Given the description of an element on the screen output the (x, y) to click on. 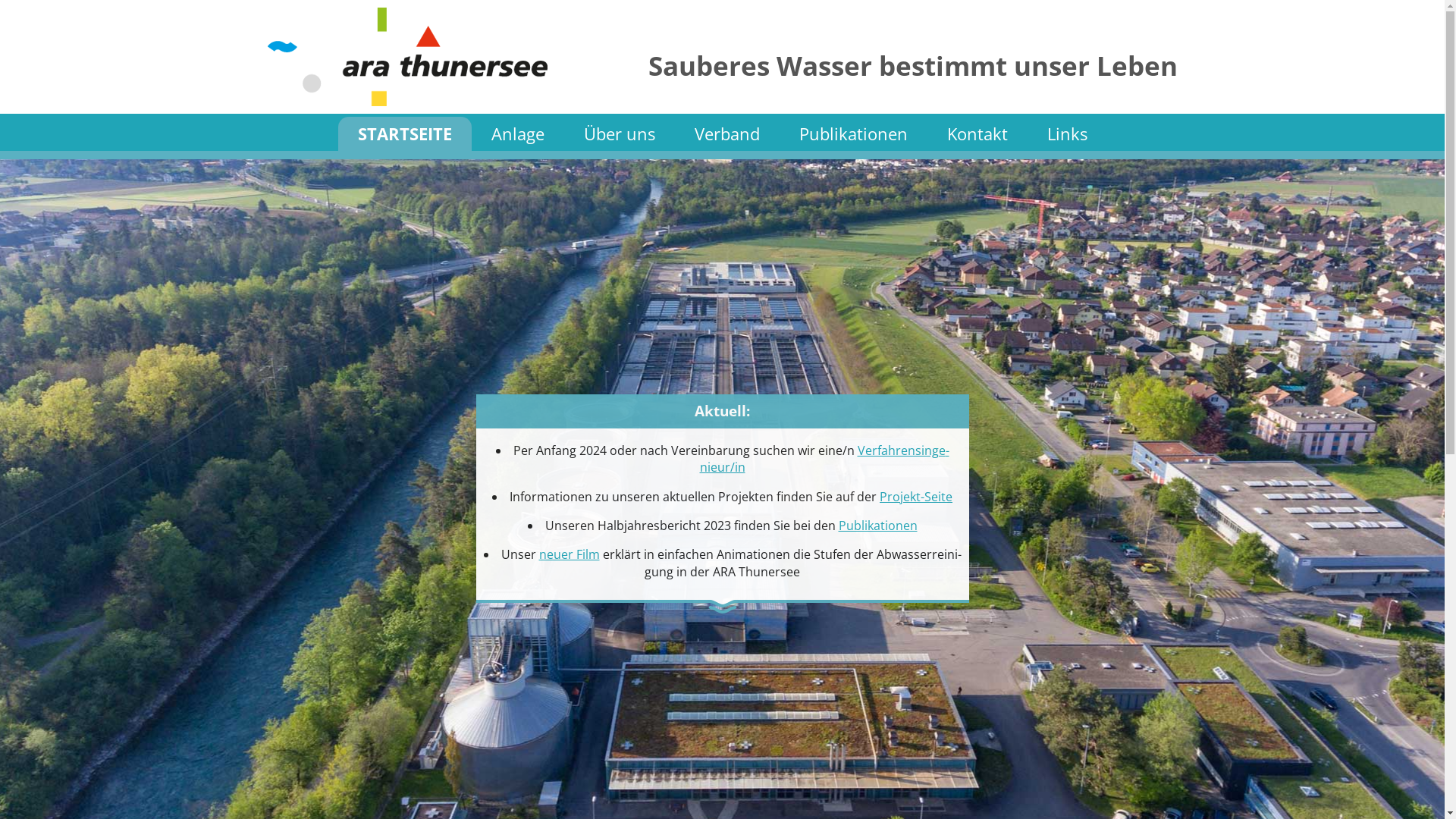
Links Element type: text (1066, 133)
Kontakt Element type: text (976, 133)
Projekt-Seite Element type: text (915, 496)
neuer Film Element type: text (568, 554)
STARTSEITE Element type: text (404, 133)
Publikationen Element type: text (853, 133)
Verband Element type: text (726, 133)
Anlage Element type: text (517, 133)
